Given the description of an element on the screen output the (x, y) to click on. 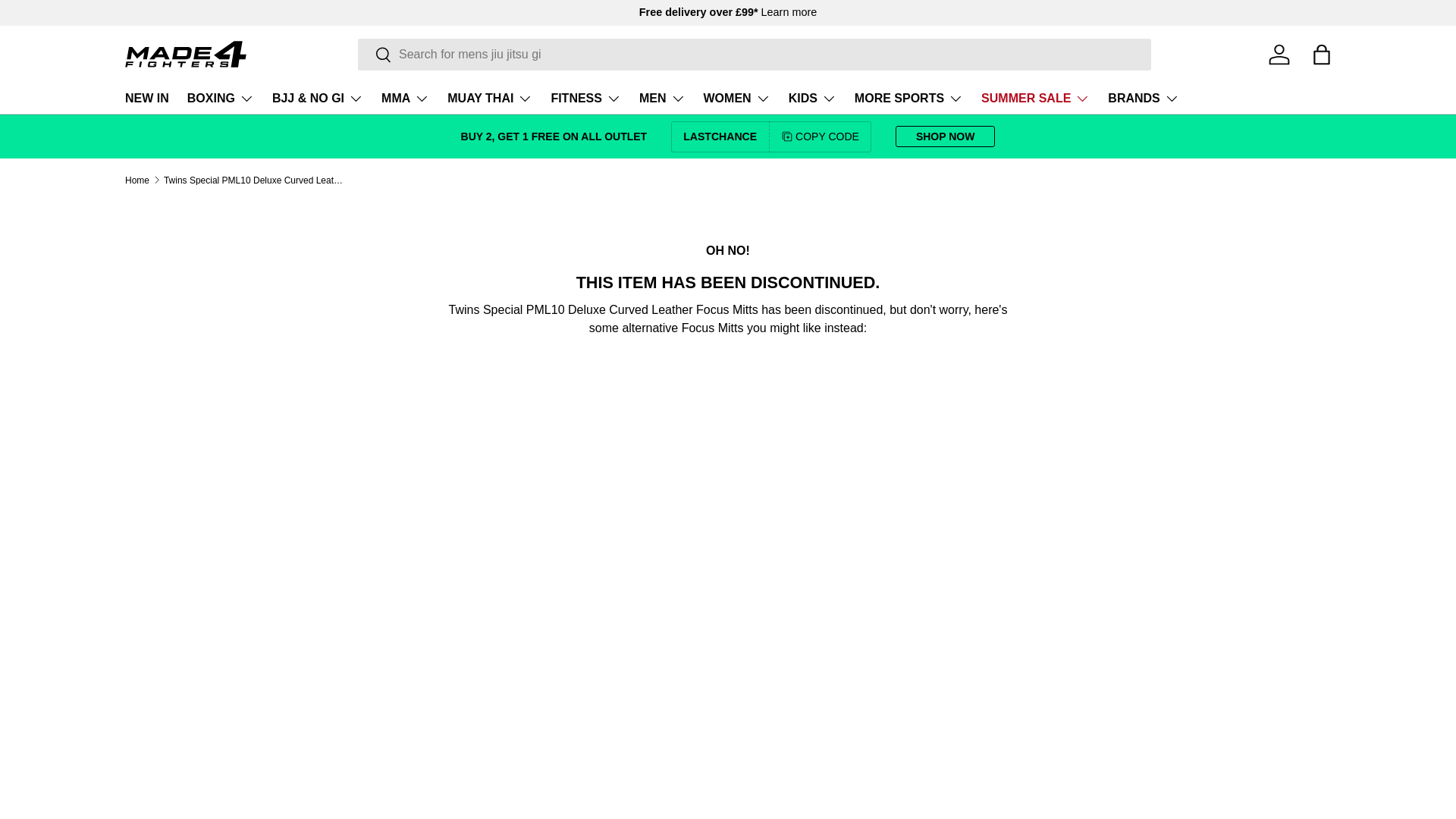
NEW IN (146, 98)
Outlet (554, 136)
United Kingdom (788, 11)
BOXING (220, 98)
Log in (1278, 54)
Learn more (788, 11)
SKIP TO CONTENT (68, 21)
Bag (1321, 54)
Search (374, 55)
